Given the description of an element on the screen output the (x, y) to click on. 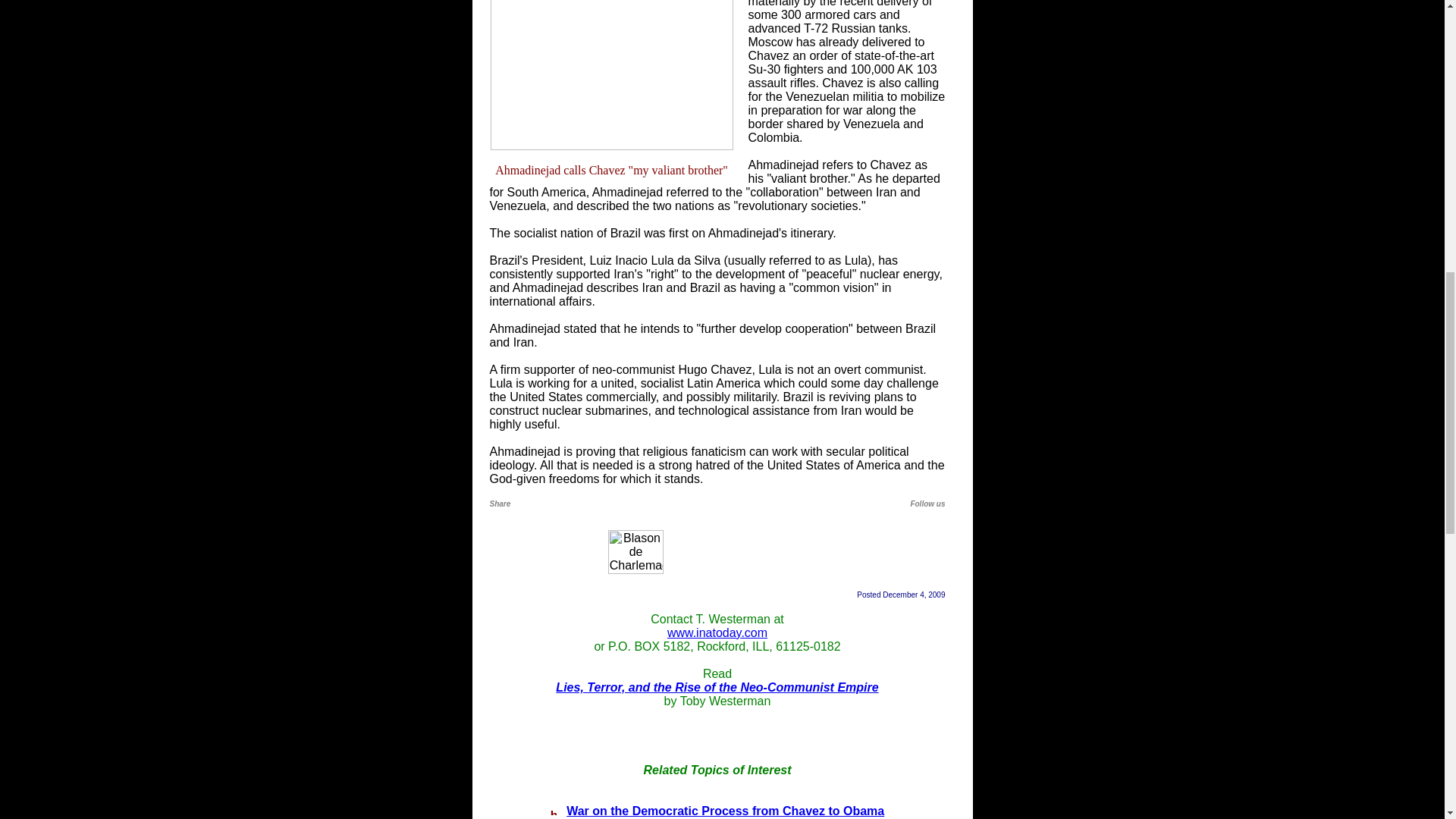
Lies, Terror, and the Rise of the Neo-Communist Empire (716, 686)
www.inatoday.com (716, 632)
War on the Democratic Process from Chavez to Obama (724, 810)
